Given the description of an element on the screen output the (x, y) to click on. 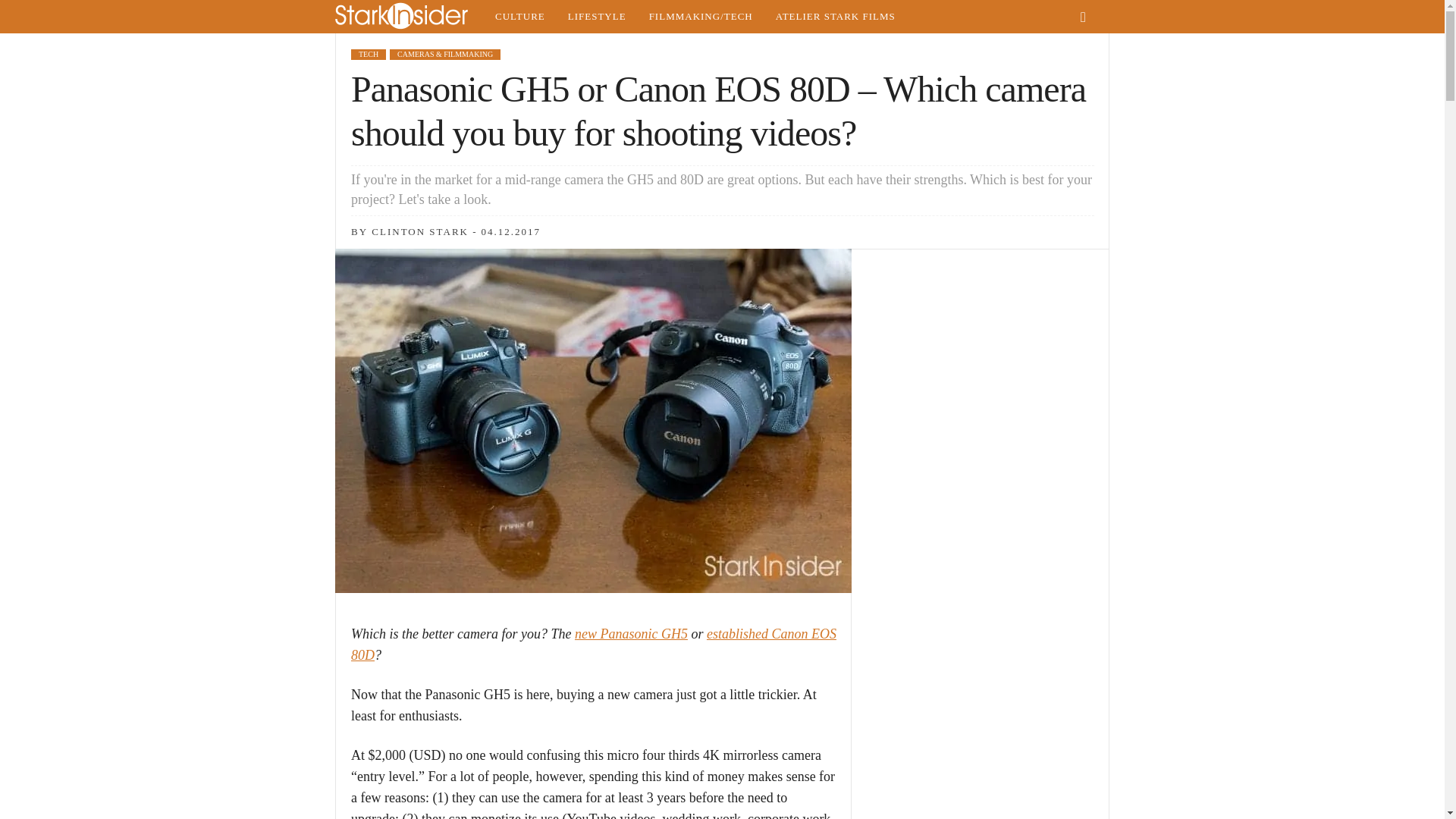
Stark Insider (408, 16)
CULTURE (519, 16)
TECH (367, 54)
established Canon EOS 80D (592, 644)
ATELIER STARK FILMS (835, 16)
Indie film, music, arts in San Francisco and Silicon Valley (519, 16)
Tech, gadgets, camera news and reviews from Silicon Valley (700, 16)
new Panasonic GH5 (631, 633)
